Given the description of an element on the screen output the (x, y) to click on. 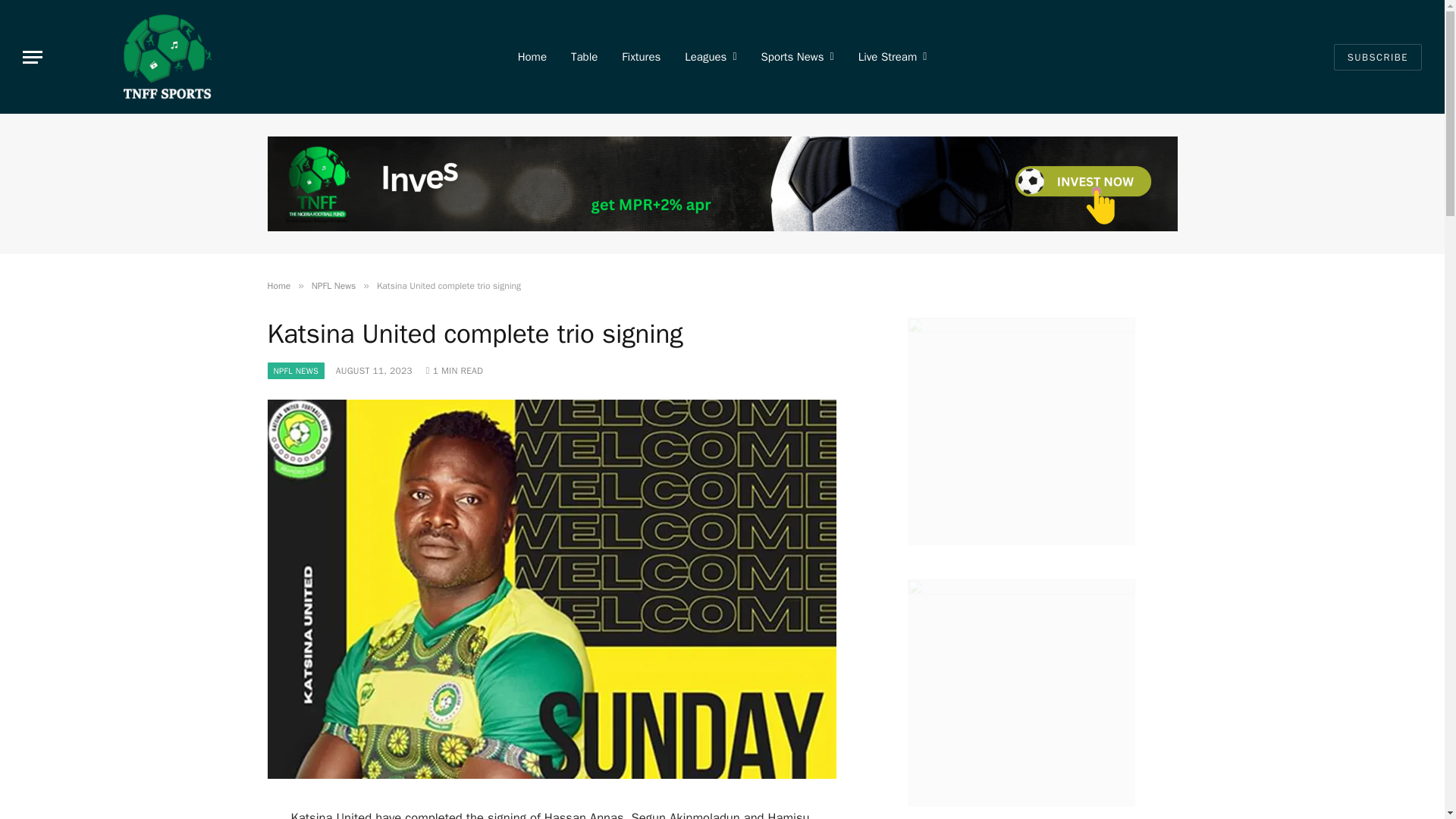
TNFF Sports (167, 56)
Katsina United complete trio signing (550, 775)
